Given the description of an element on the screen output the (x, y) to click on. 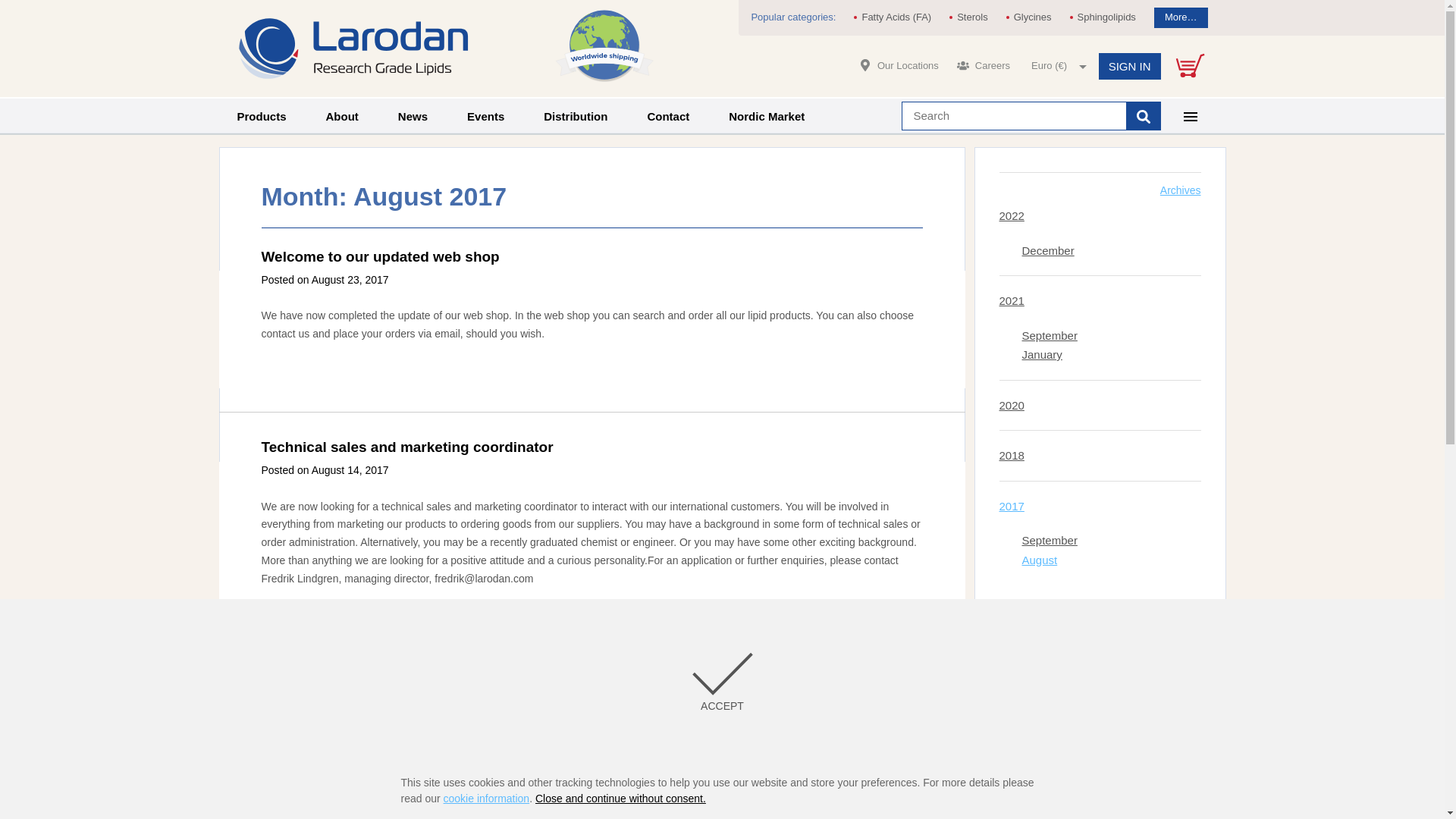
Sterols (967, 17)
Sphingolipids (1102, 17)
Glycines (1029, 17)
Careers (983, 65)
Our Locations (898, 65)
